Given the description of an element on the screen output the (x, y) to click on. 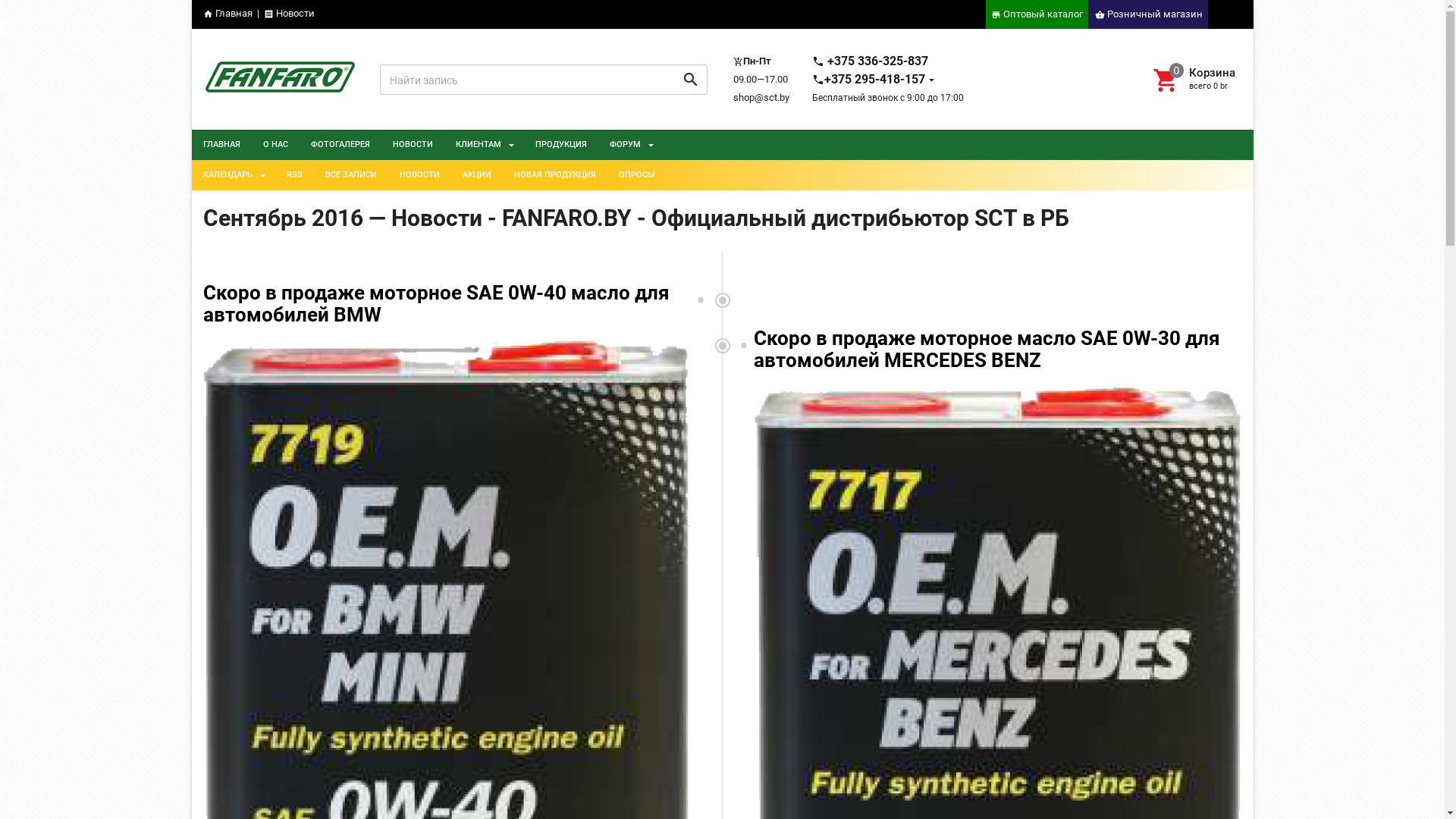
RSS Element type: text (293, 175)
shop@sct.by Element type: text (761, 97)
+375 295-418-157 Element type: text (873, 79)
+375 336-325-837 Element type: text (870, 60)
